Given the description of an element on the screen output the (x, y) to click on. 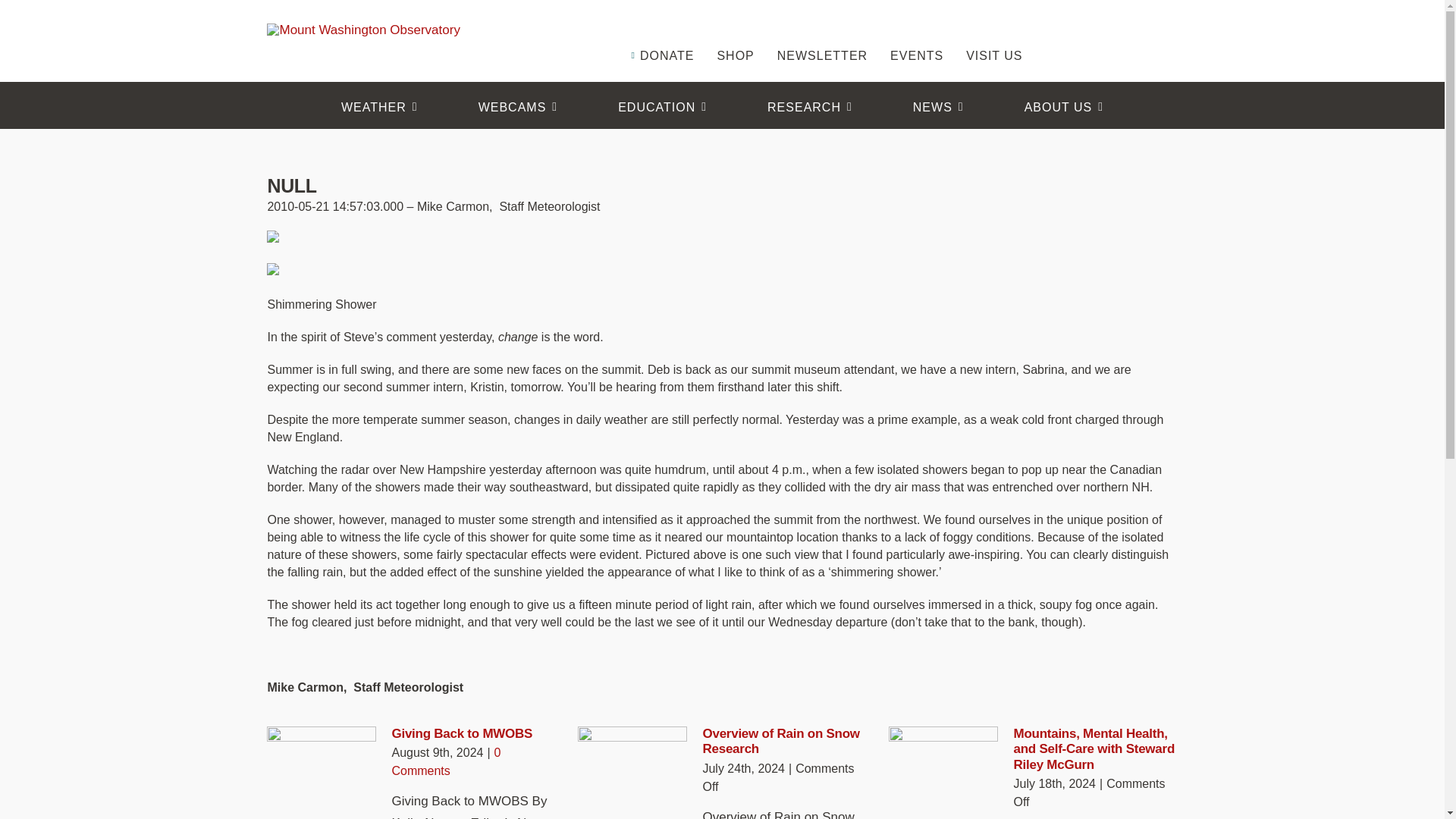
DONATE (660, 33)
EDUCATION (662, 107)
WEBCAMS (518, 107)
NEWSLETTER (822, 33)
WEATHER (379, 107)
